Given the description of an element on the screen output the (x, y) to click on. 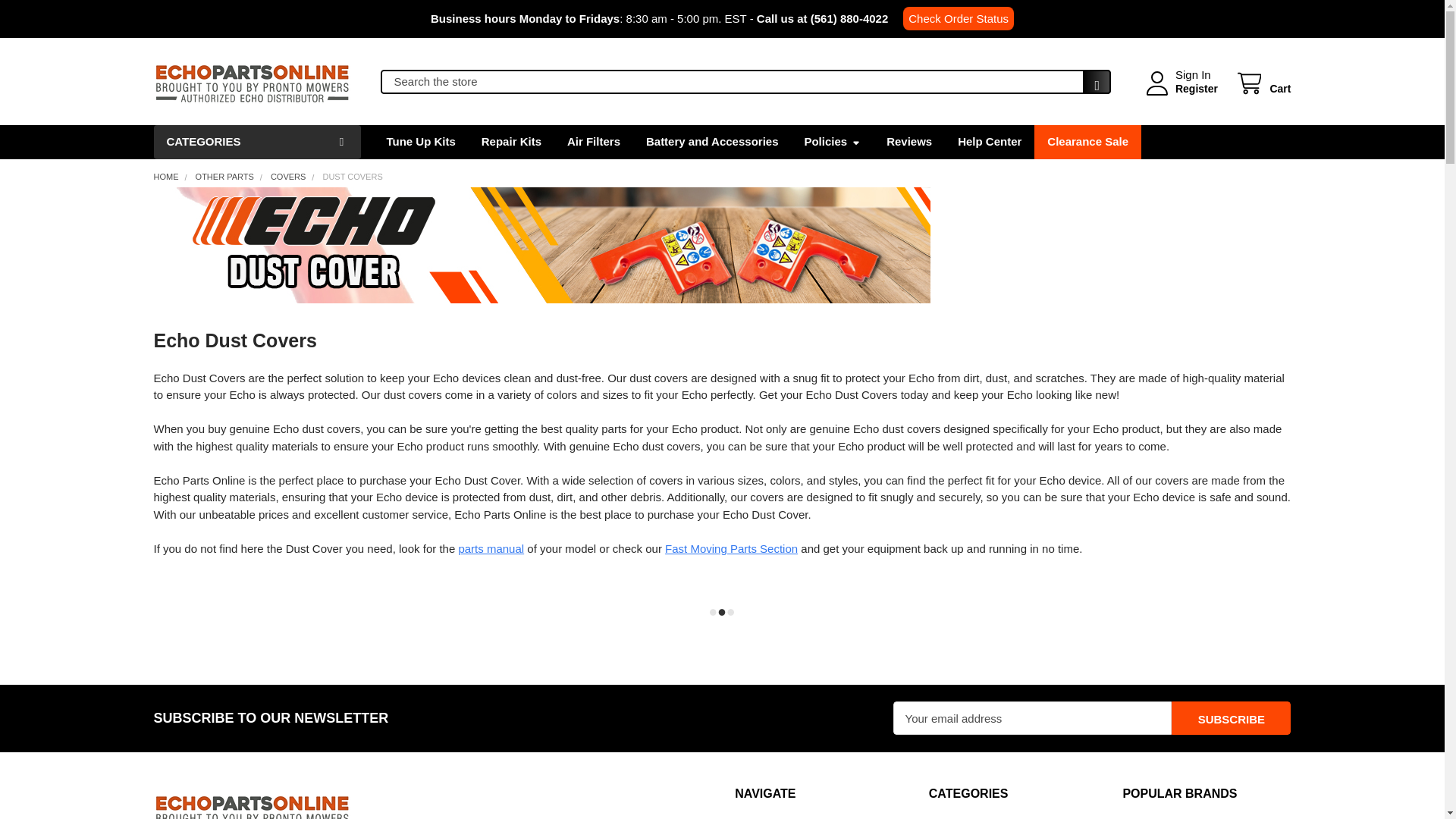
Search (1092, 86)
ECHO PARTS ONLINE (251, 804)
Sign In (1192, 74)
CATEGORIES (255, 141)
Cart (1262, 83)
Cart (1262, 83)
Echo Hedge Trimmer Dust Cover (541, 245)
ECHO PARTS ONLINE (251, 81)
Register (1195, 89)
Subscribe (1231, 717)
Search (1092, 86)
Check Order Status (957, 18)
